Given the description of an element on the screen output the (x, y) to click on. 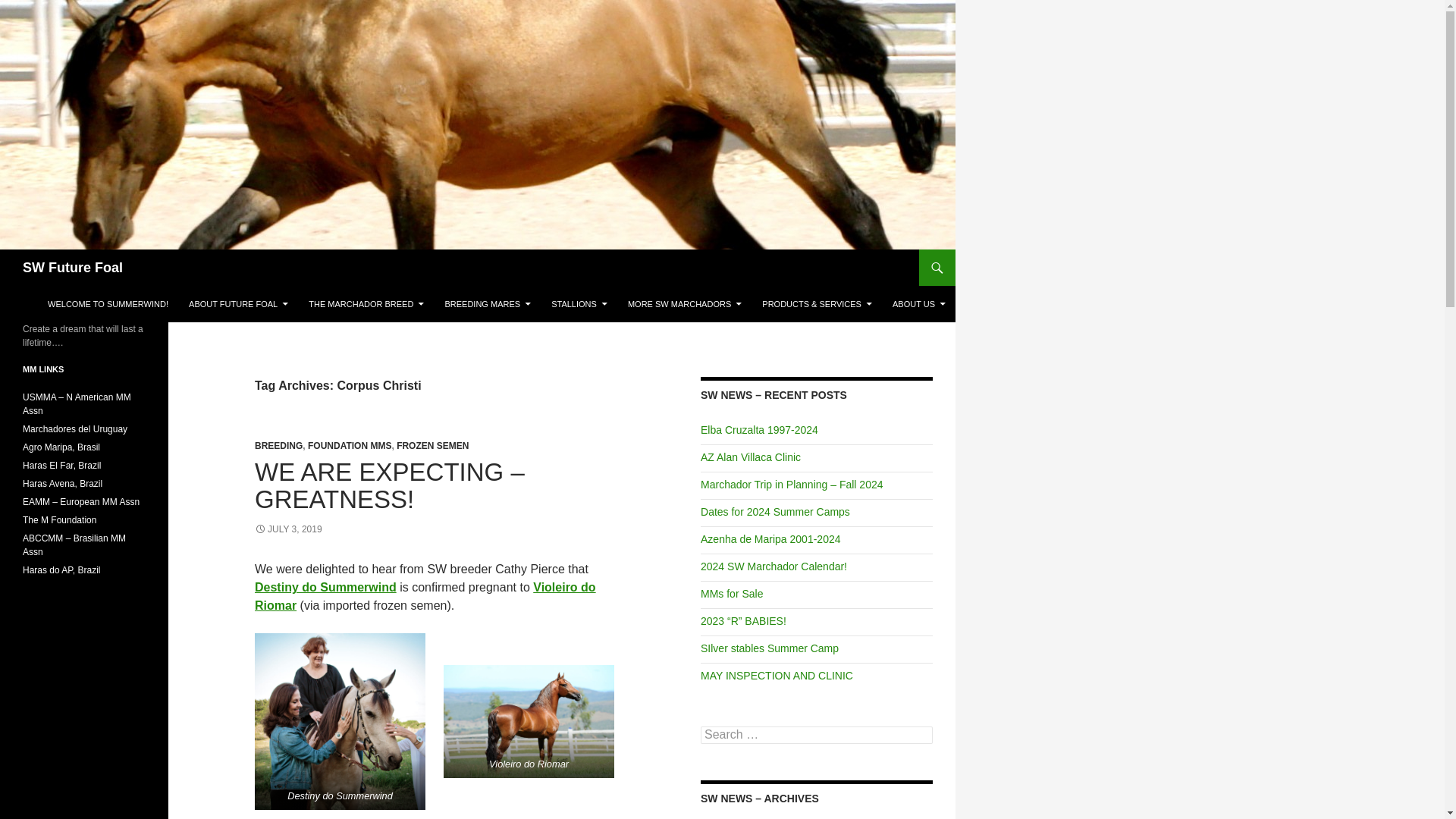
ABOUT FUTURE FOAL (238, 303)
THE MARCHADOR BREED (365, 303)
SW Future Foal (72, 267)
BREEDING MARES (487, 303)
Facebook page for breeder (62, 483)
European MM Assn (81, 501)
STALLIONS (578, 303)
Facebook page for the breeder (61, 570)
